Given the description of an element on the screen output the (x, y) to click on. 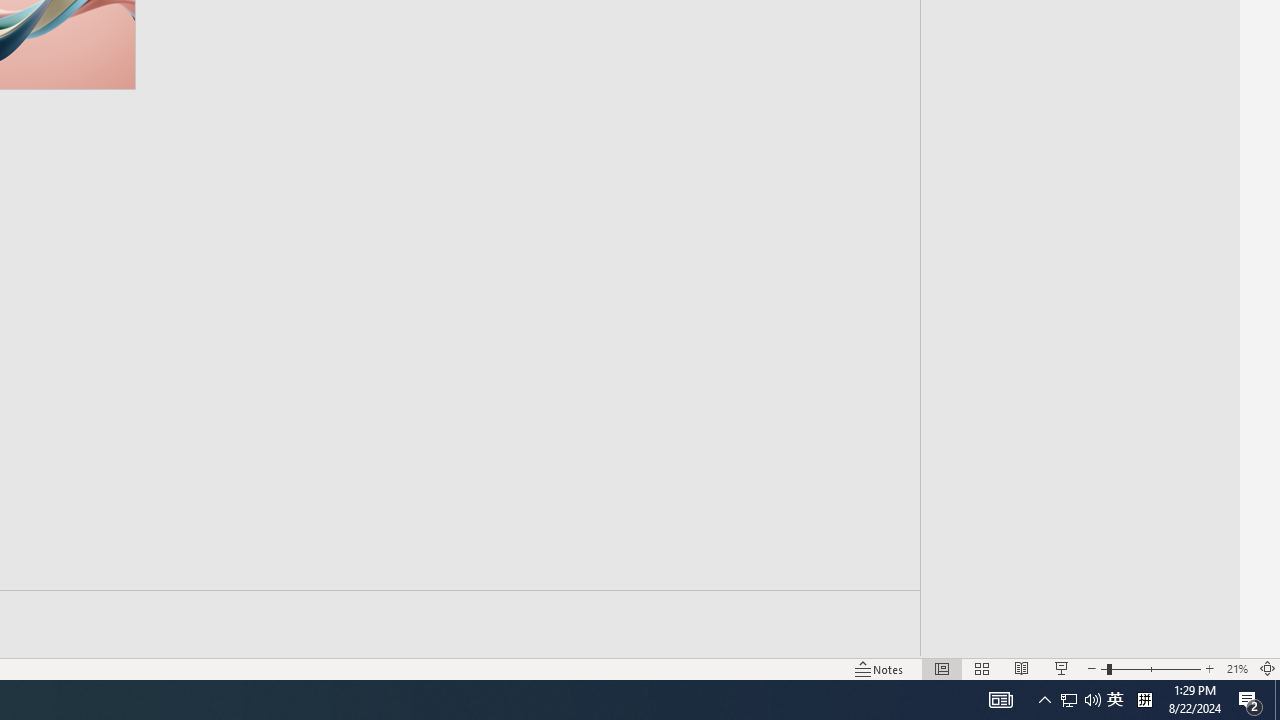
Zoom 21% (1236, 668)
